Given the description of an element on the screen output the (x, y) to click on. 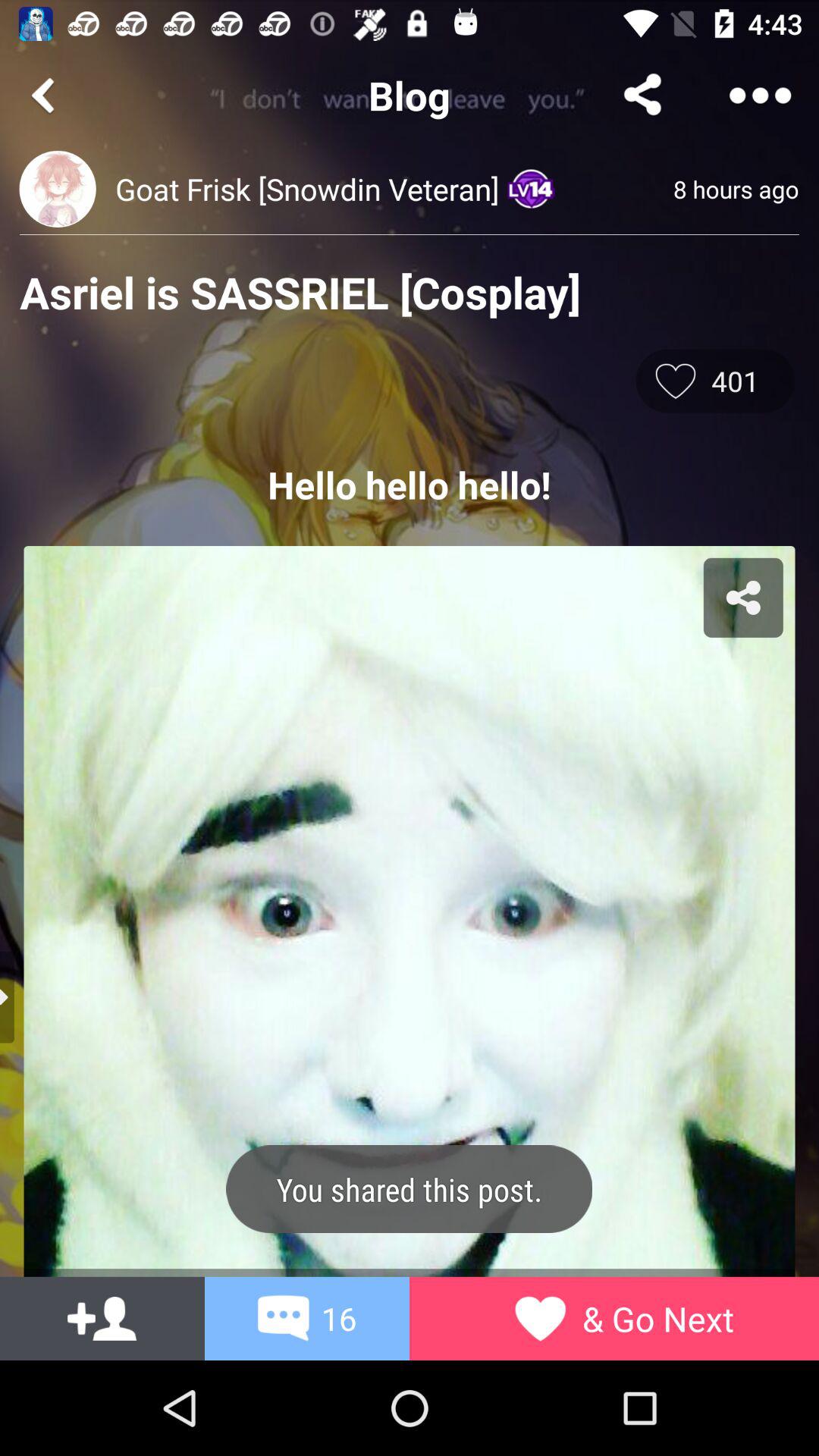
select the image which is to the left side of the goat frisk (57, 189)
select the heart and go next button on the bottom right hand side (539, 1317)
click on menu button (760, 95)
